Given the description of an element on the screen output the (x, y) to click on. 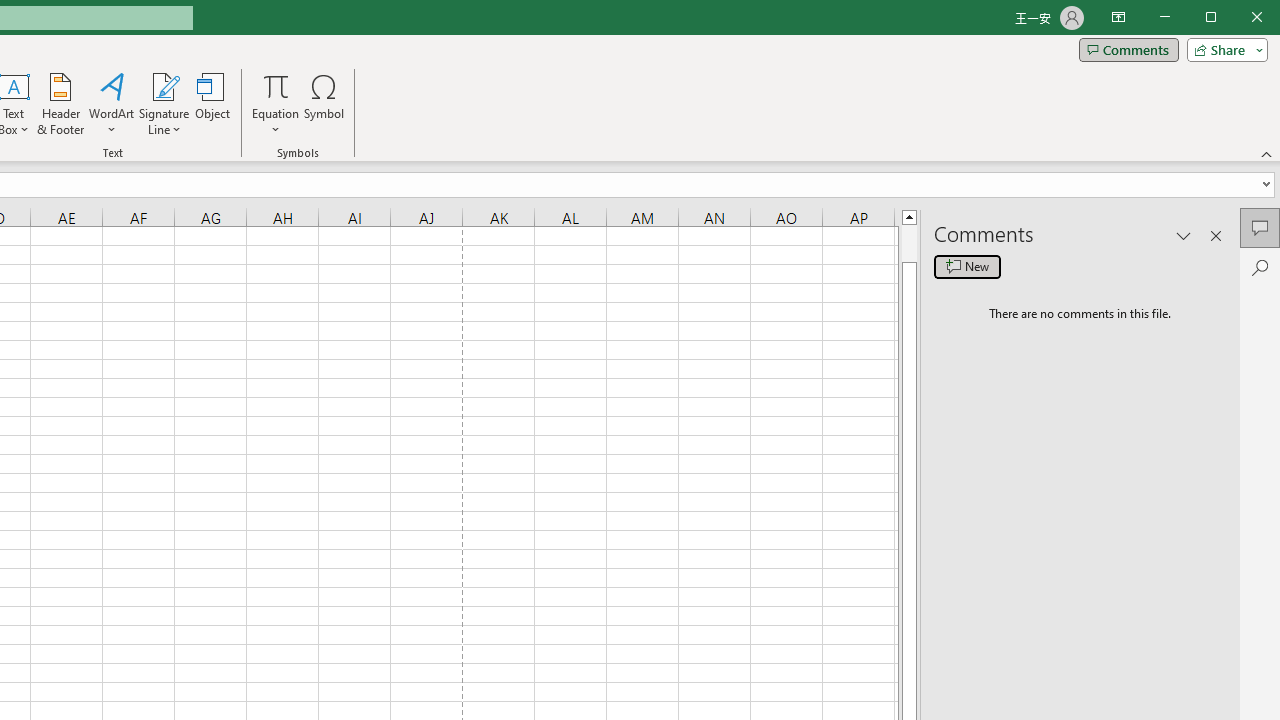
New comment (967, 266)
Close pane (1215, 235)
Task Pane Options (1183, 235)
Equation (275, 86)
Object... (213, 104)
WordArt (111, 104)
Signature Line (164, 86)
Signature Line (164, 104)
